Given the description of an element on the screen output the (x, y) to click on. 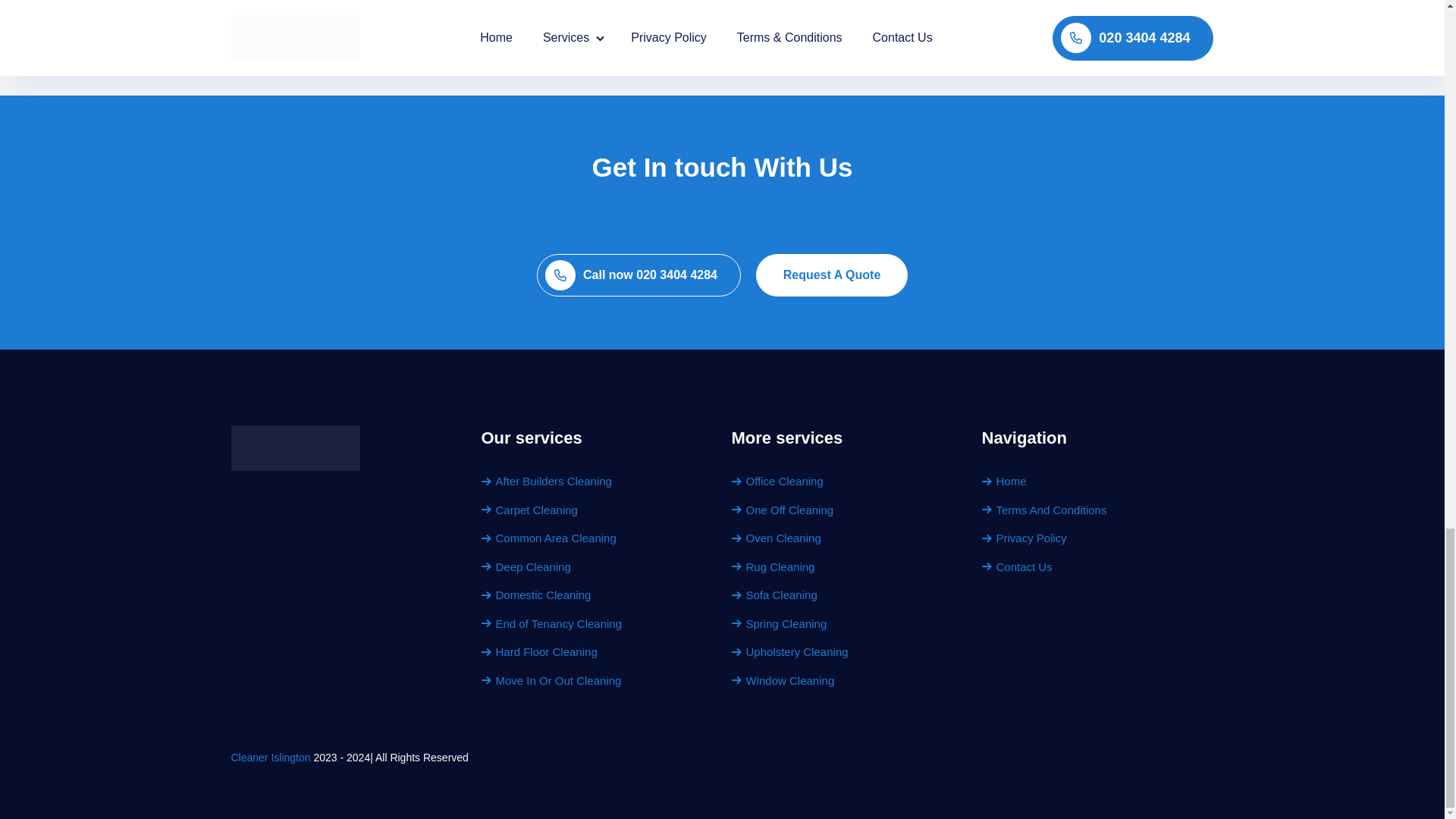
Carpet Cleaning (528, 509)
One Off Cleaning (781, 509)
Hard Floor Cleaning (538, 651)
Office Cleaning (776, 481)
End of Tenancy Cleaning (550, 623)
After Builders Cleaning (545, 481)
Deep Cleaning (525, 565)
Move In Or Out Cleaning (550, 679)
Domestic Cleaning (535, 594)
Cleaner Islington (270, 757)
